Given the description of an element on the screen output the (x, y) to click on. 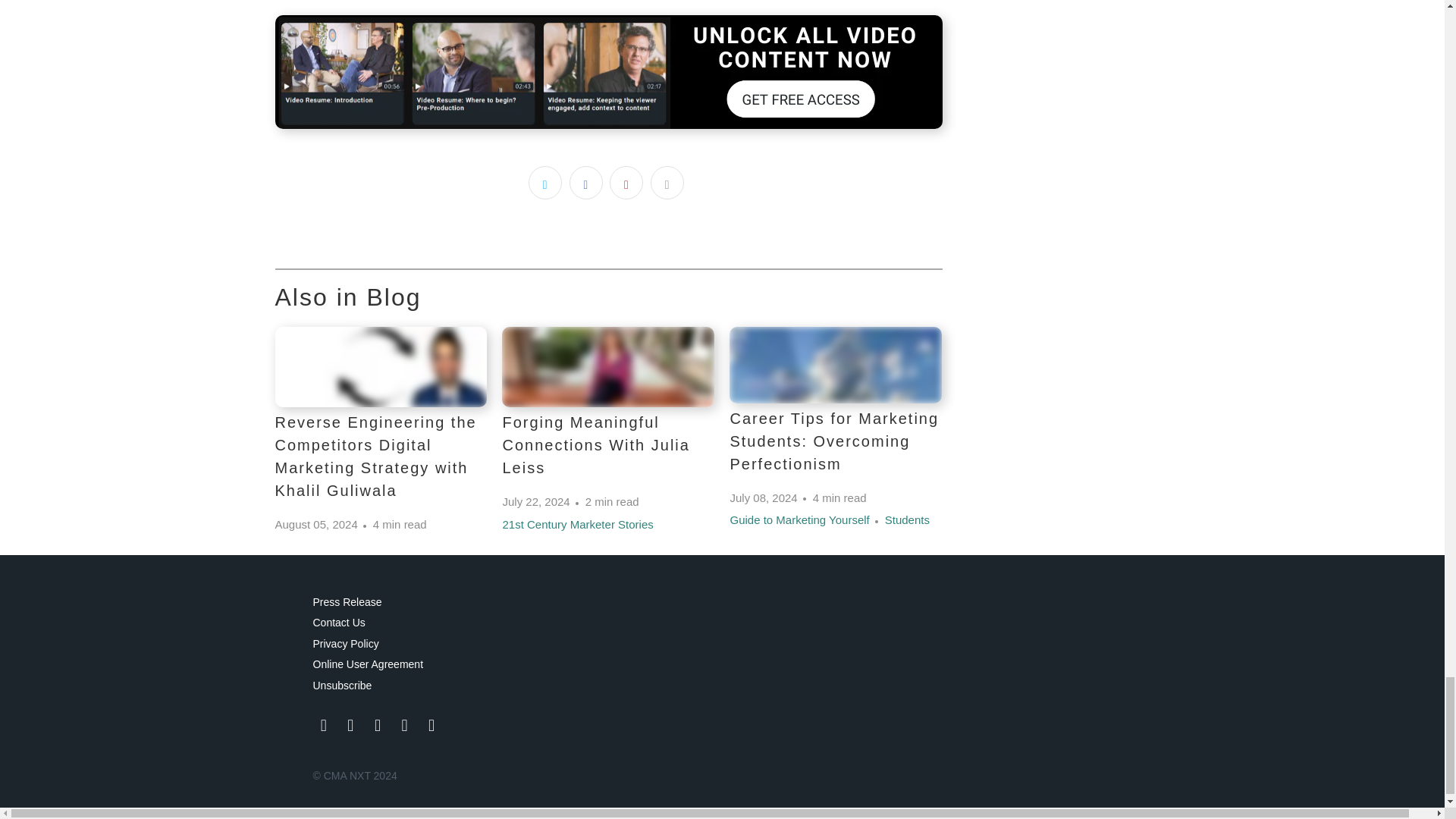
Share this on Pinterest (626, 182)
Blog tagged 21st Century Marketer Stories (577, 523)
21st Century Marketer Stories (577, 523)
Email this to a friend (667, 182)
Forging Meaningful Connections With Julia Leiss (595, 444)
Share this on Facebook (585, 182)
Career Tips for Marketing Students: Overcoming Perfectionism (835, 364)
Forging Meaningful Connections With Julia Leiss (608, 366)
